Given the description of an element on the screen output the (x, y) to click on. 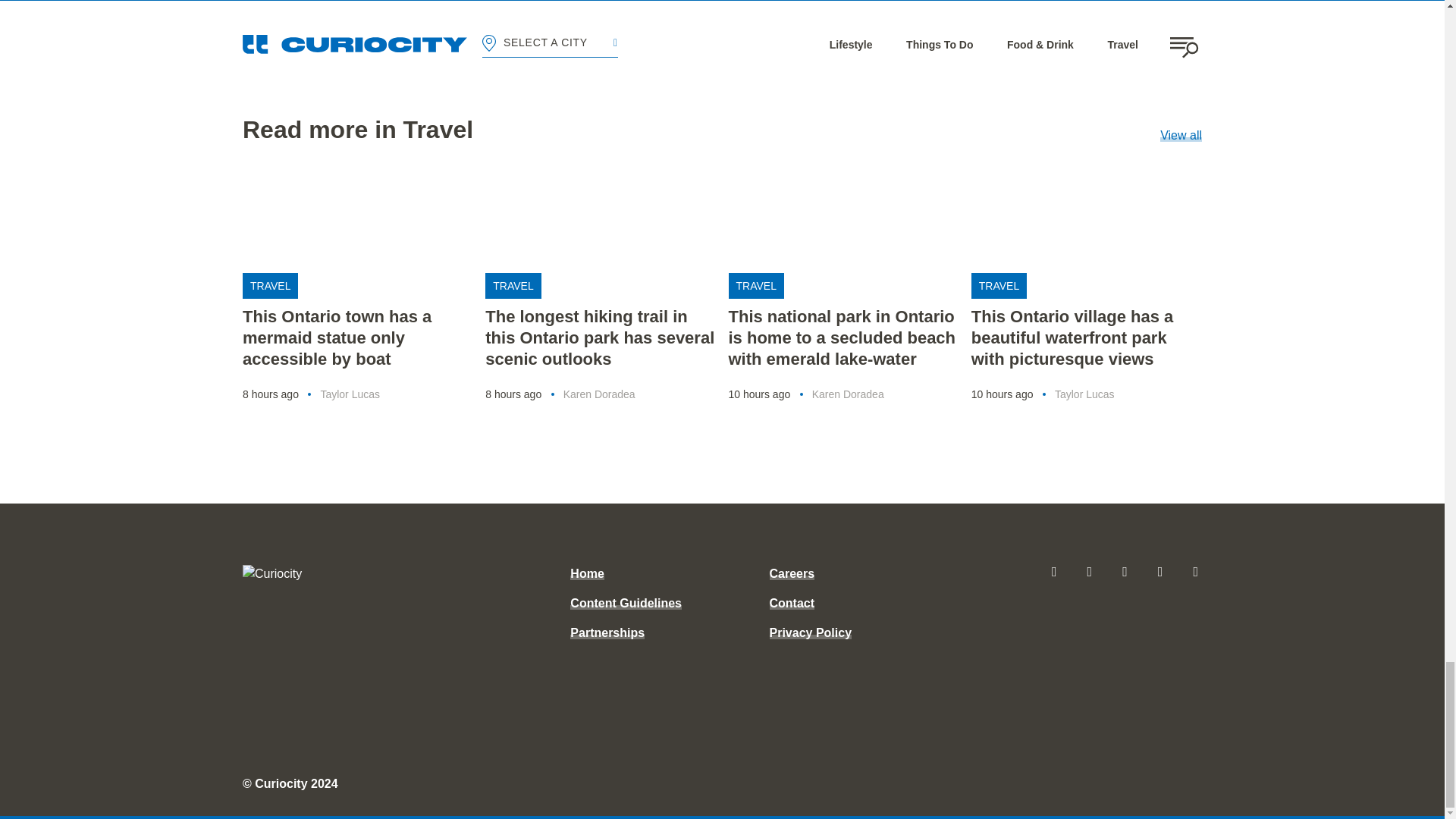
curiocity-primary-logo-white  (334, 574)
